Given the description of an element on the screen output the (x, y) to click on. 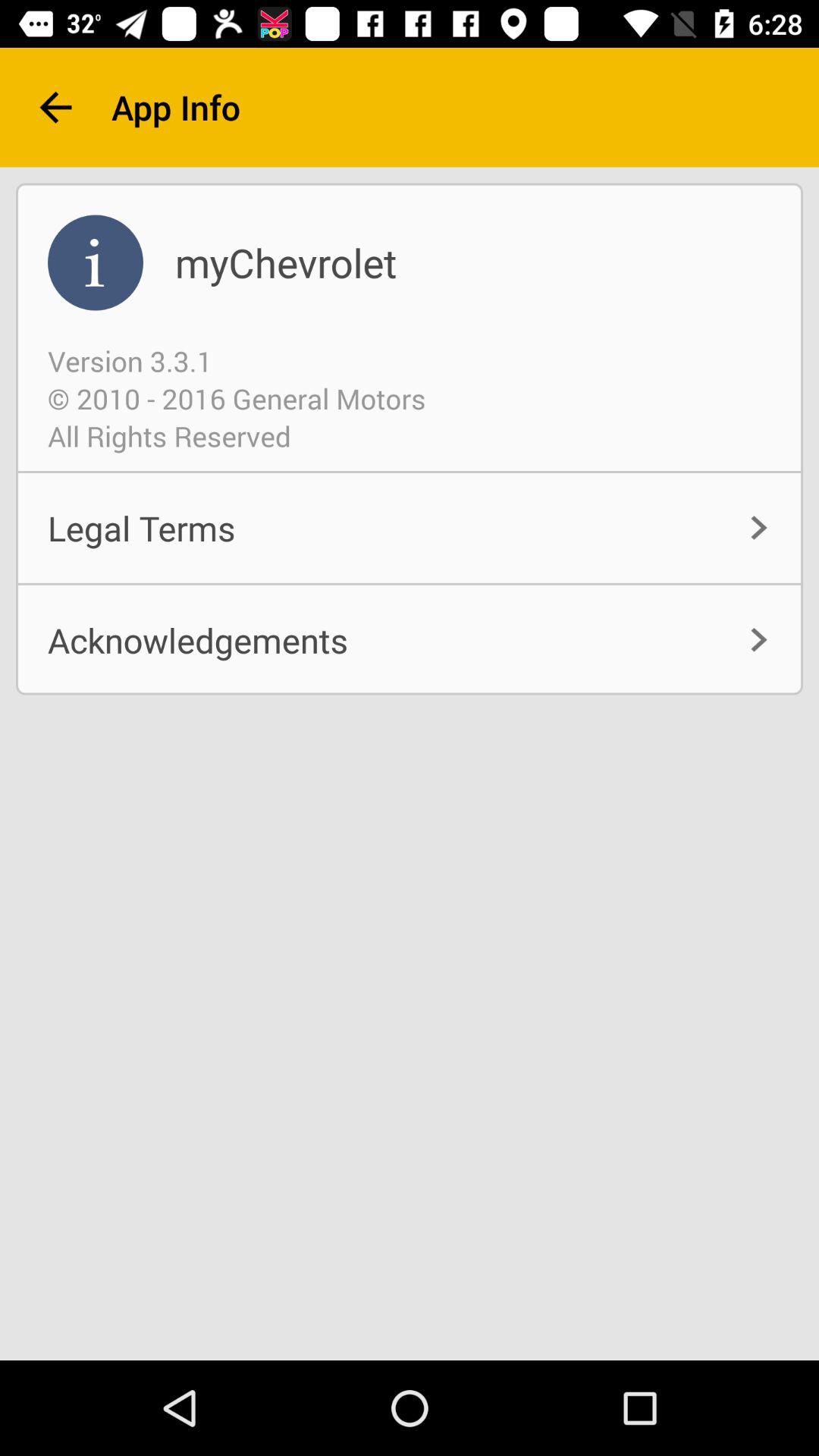
open item above acknowledgements icon (409, 527)
